Given the description of an element on the screen output the (x, y) to click on. 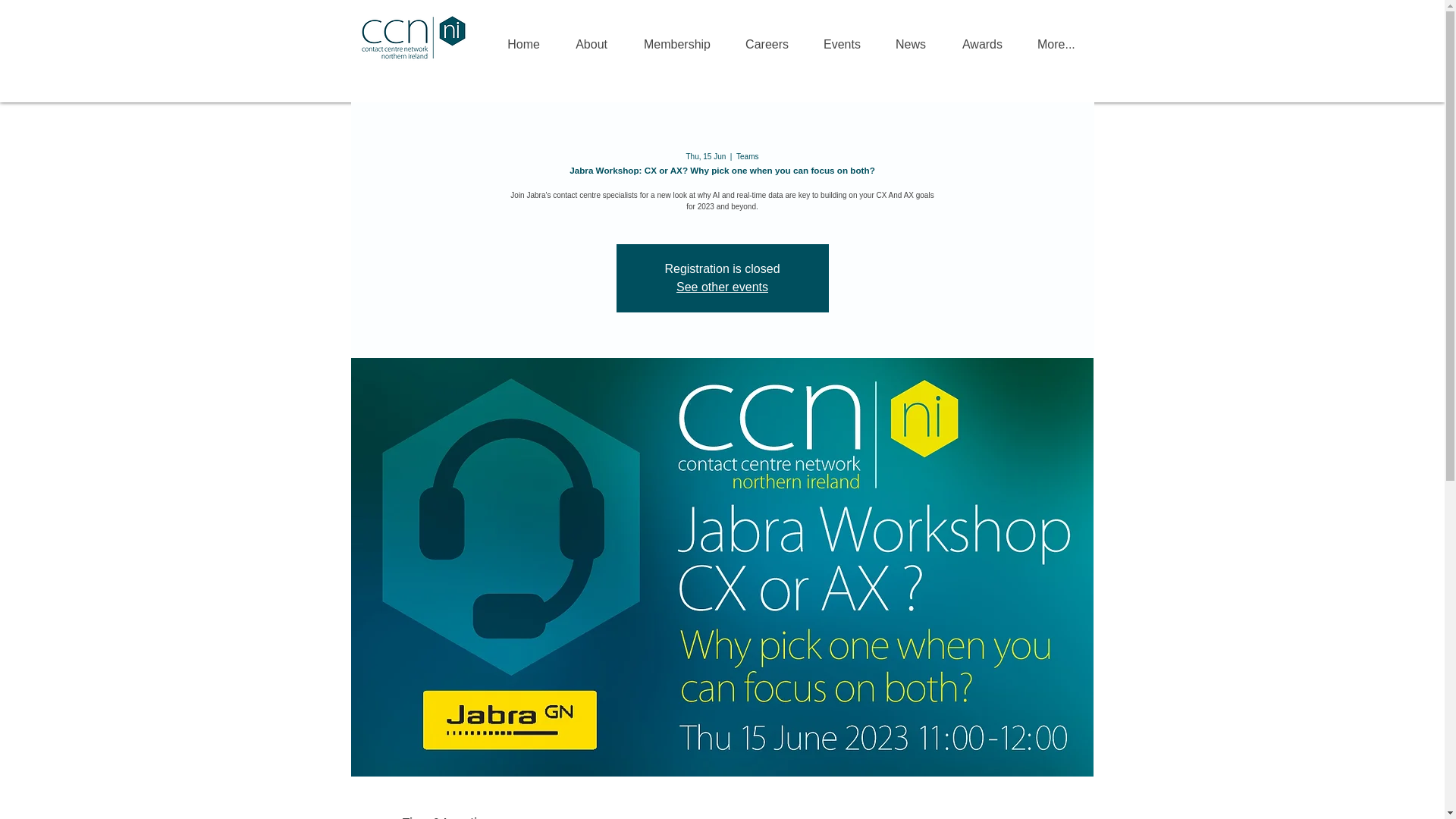
Awards (981, 37)
About (590, 37)
Events (841, 37)
Membership (676, 37)
Home (523, 37)
News (910, 37)
See other events (722, 286)
Careers (767, 37)
